Given the description of an element on the screen output the (x, y) to click on. 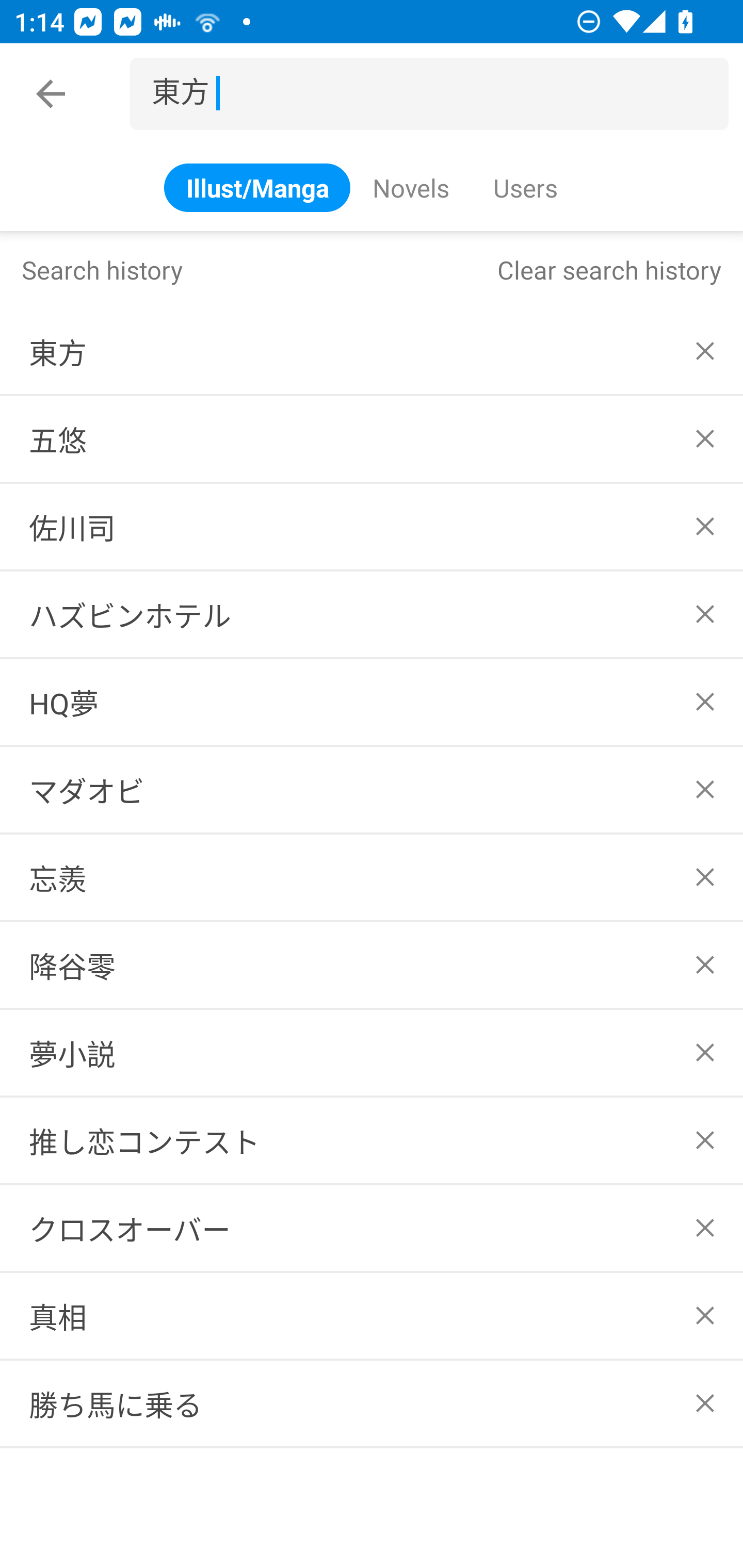
Navigate up (50, 93)
東方  (436, 94)
Illust/Manga (257, 187)
Novels (410, 187)
Users (524, 187)
Clear search history (609, 269)
東方 (371, 350)
五悠 (371, 438)
佐川司 (371, 526)
ハズビンホテル (371, 613)
HQ夢 (371, 701)
マダオビ (371, 789)
忘羨 (371, 877)
降谷零 (371, 964)
夢小説 (371, 1052)
推し恋コンテスト (371, 1140)
クロスオーバー (371, 1228)
真相 (371, 1315)
勝ち馬に乗る (371, 1403)
